Given the description of an element on the screen output the (x, y) to click on. 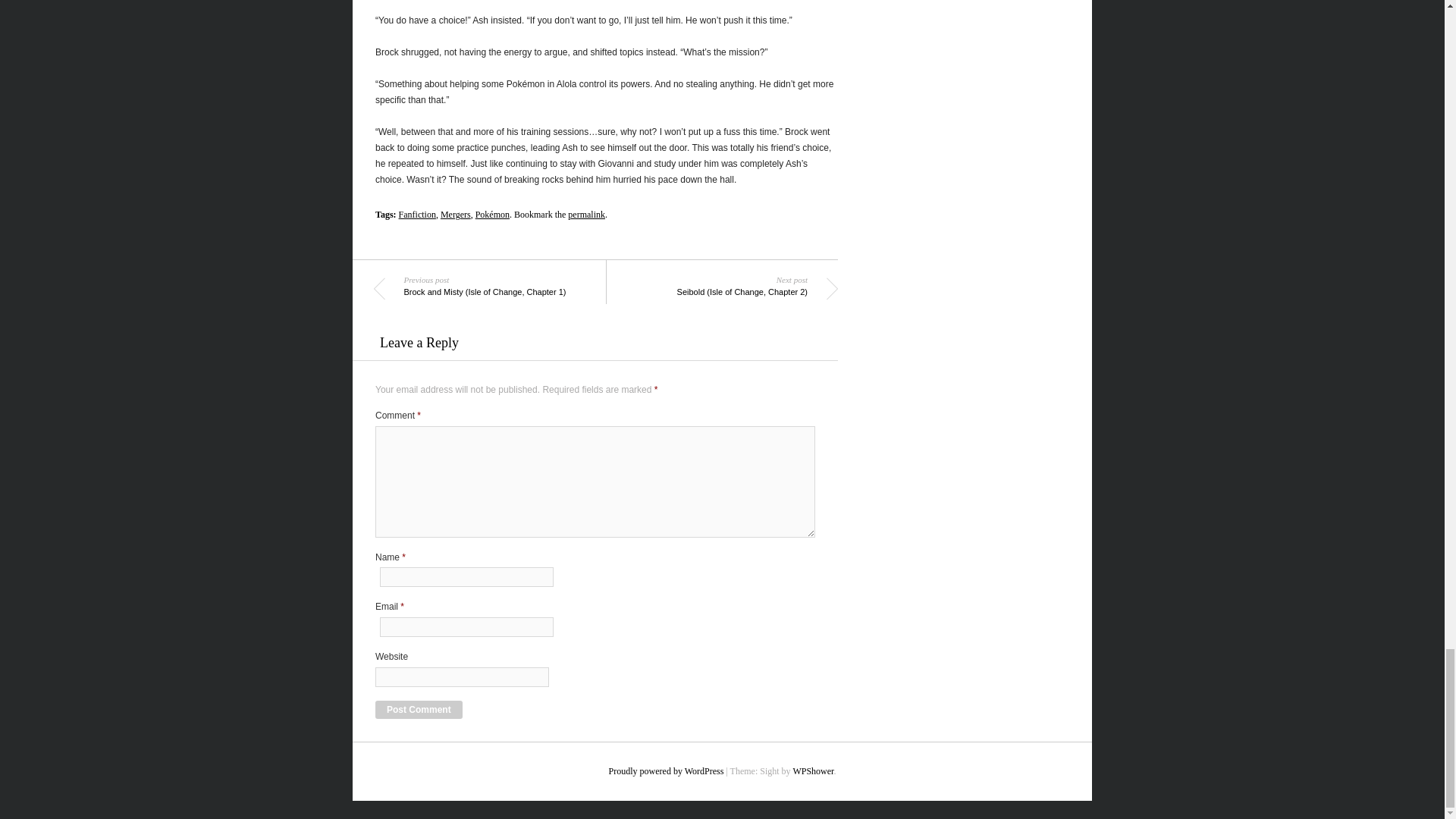
Fanfiction (416, 214)
permalink (586, 214)
Mergers (455, 214)
Post Comment (419, 710)
Post Comment (419, 710)
A Semantic Personal Publishing Platform (665, 770)
